Given the description of an element on the screen output the (x, y) to click on. 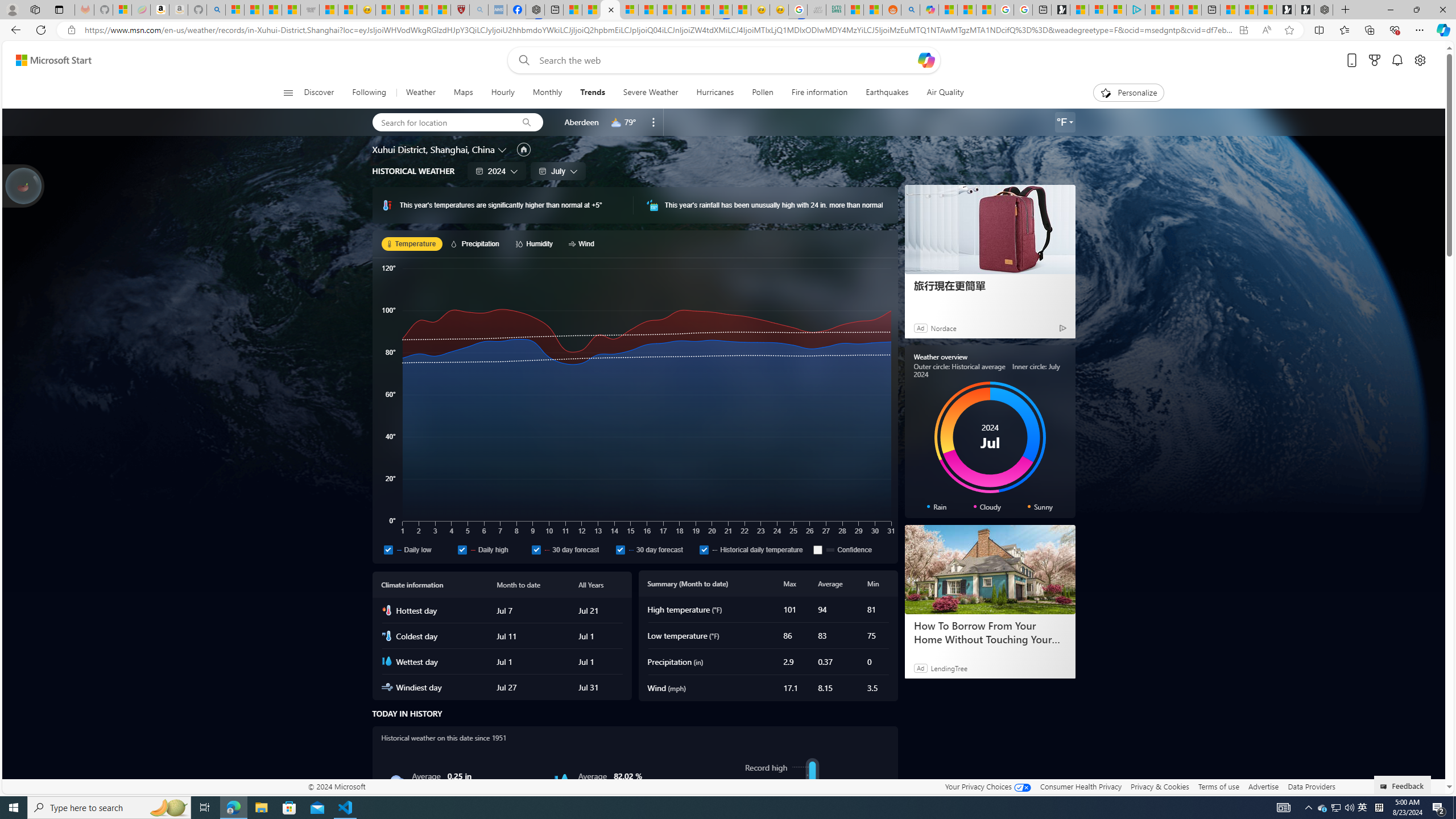
Trends (592, 92)
Remove location (653, 122)
Data Providers (1311, 785)
LendingTree (948, 668)
Historical daily temperature (703, 549)
Xuhui District, Shanghai, China (433, 149)
